Given the description of an element on the screen output the (x, y) to click on. 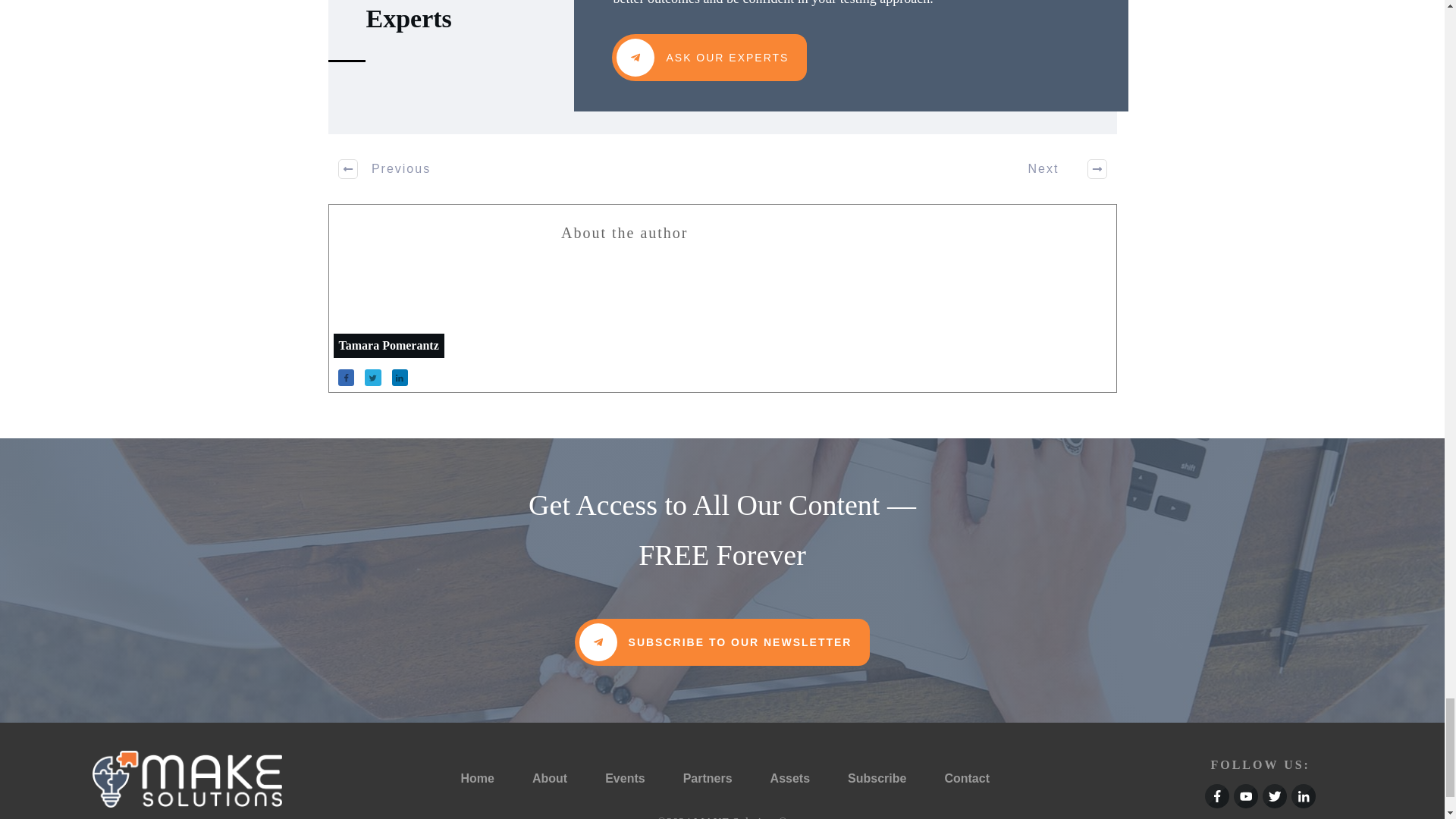
Next (1059, 168)
ASK OUR EXPERTS (708, 57)
Previous (385, 168)
